Given the description of an element on the screen output the (x, y) to click on. 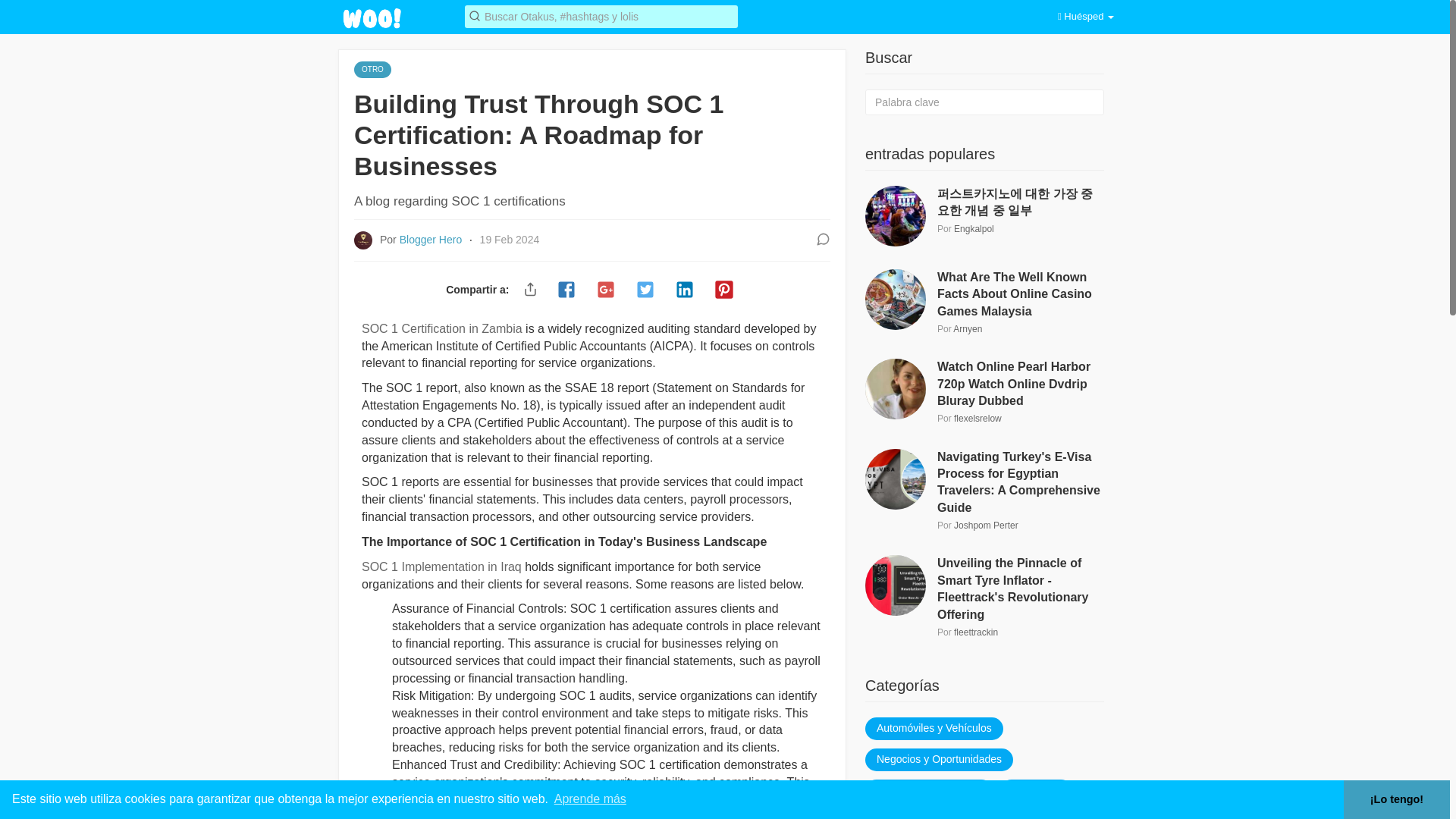
SOC 1 Implementation in Iraq (441, 566)
Blogger Hero (431, 239)
SOC 1 Certification in Zambia (441, 328)
Engkalpol (973, 228)
OTRO (372, 68)
